Given the description of an element on the screen output the (x, y) to click on. 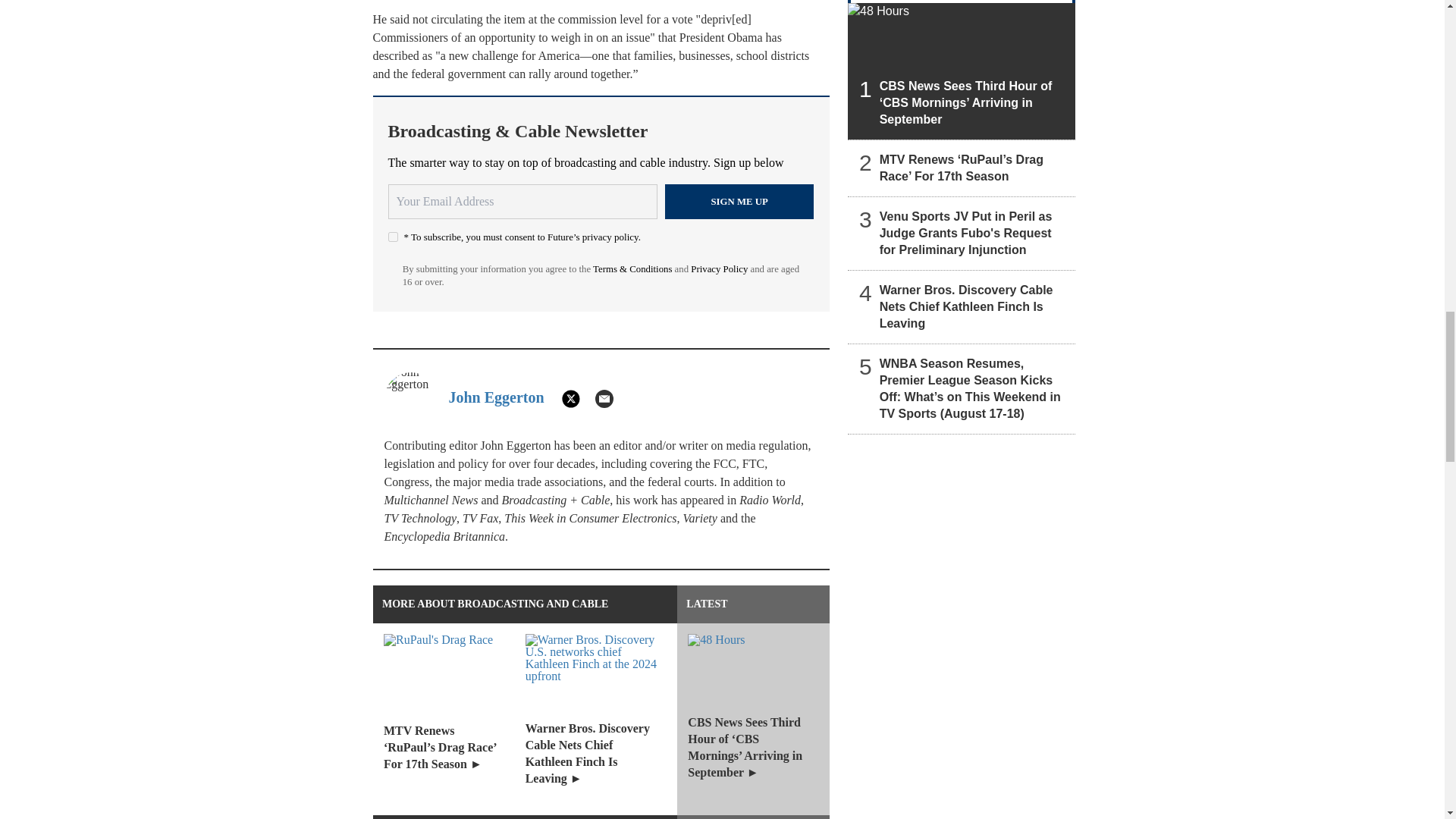
Sign me up (739, 201)
on (392, 236)
Sign me up (739, 201)
Privacy Policy (719, 268)
